Given the description of an element on the screen output the (x, y) to click on. 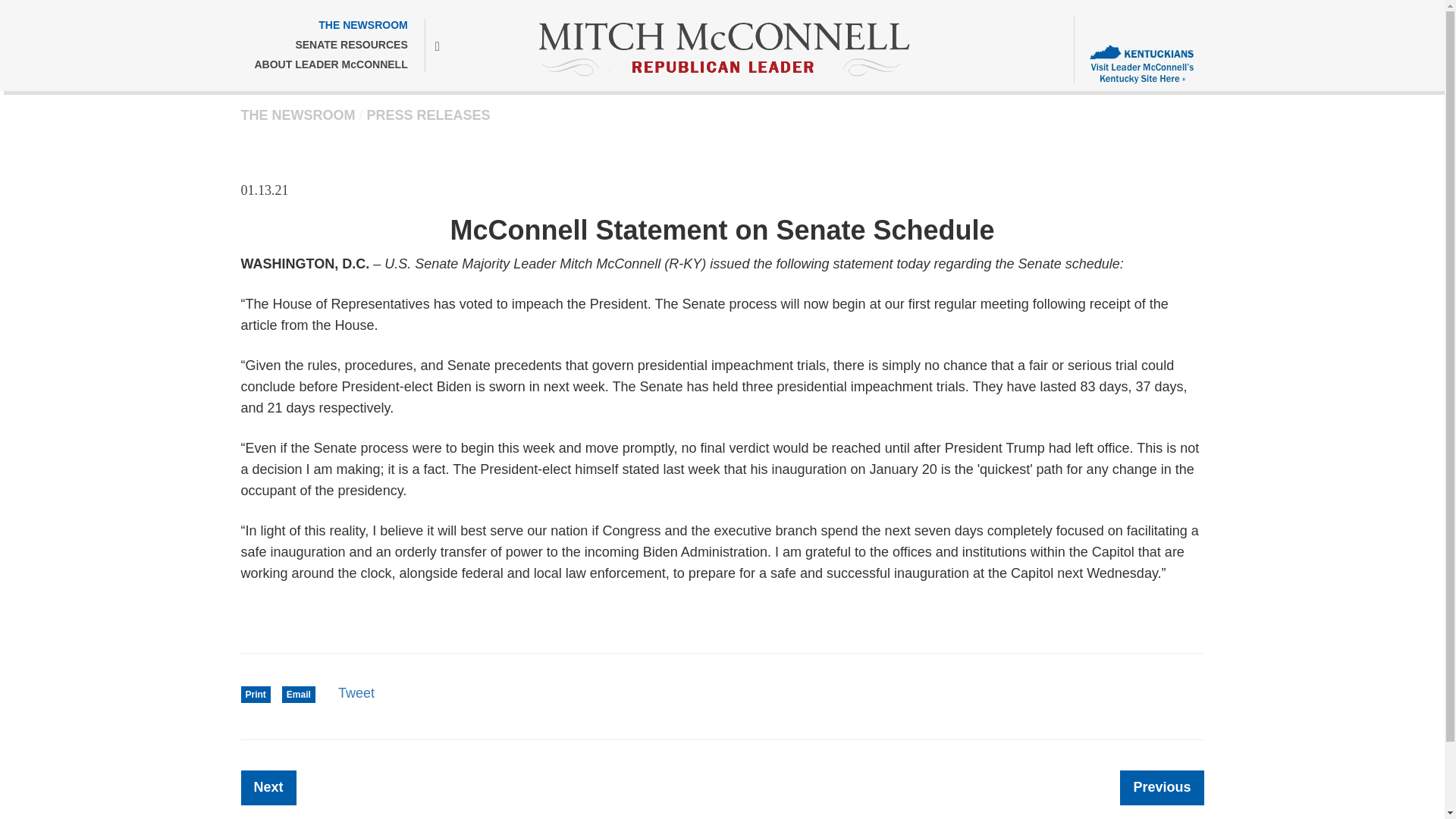
SENATE RESOURCES (331, 45)
ABOUT LEADER McCONNELL (331, 65)
THE NEWSROOM (330, 25)
